Given the description of an element on the screen output the (x, y) to click on. 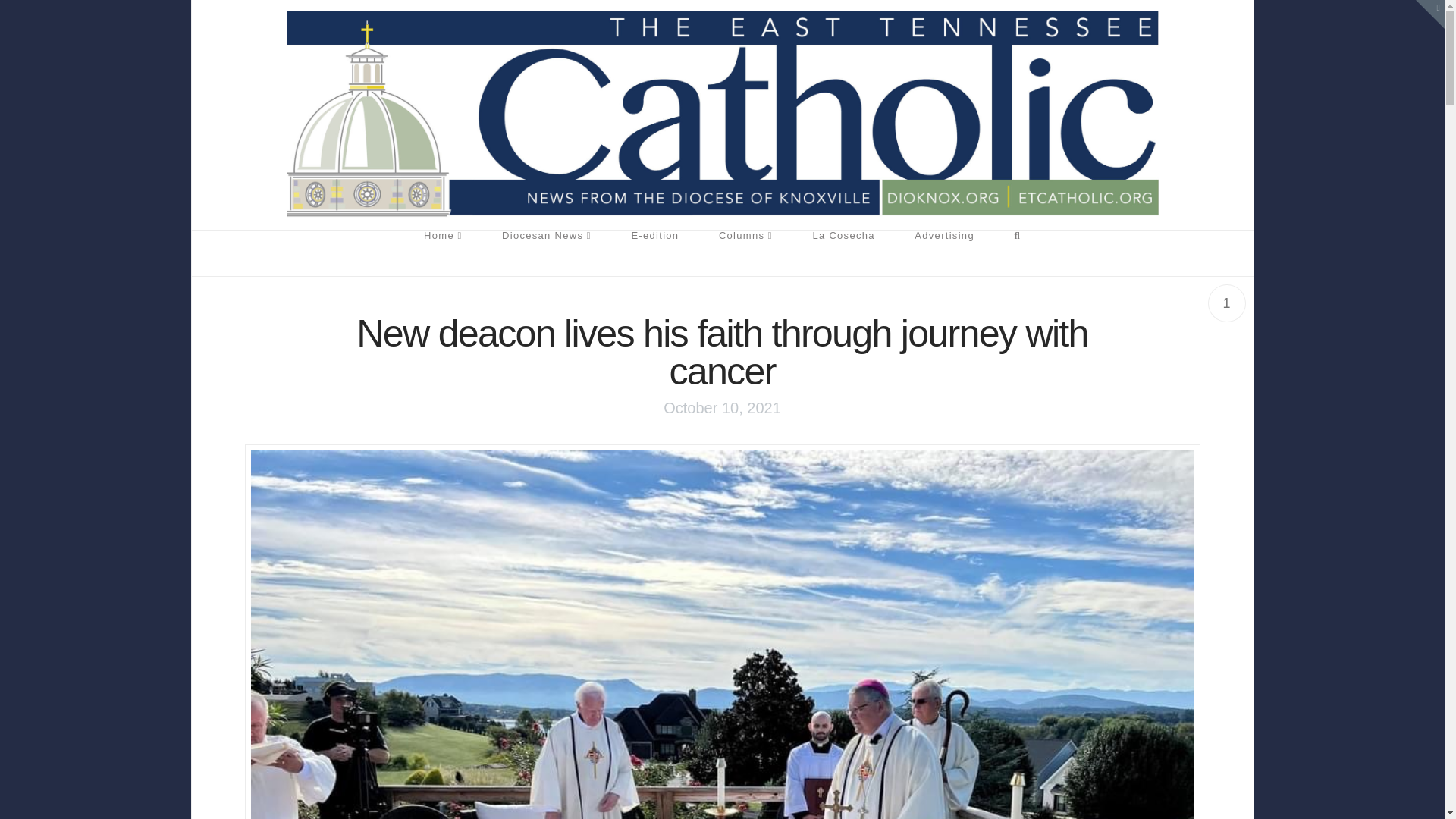
Home (442, 253)
Columns (745, 253)
Advertising (944, 253)
1 (1225, 303)
E-edition (654, 253)
La Cosecha (843, 253)
Diocesan News (546, 253)
